Given the description of an element on the screen output the (x, y) to click on. 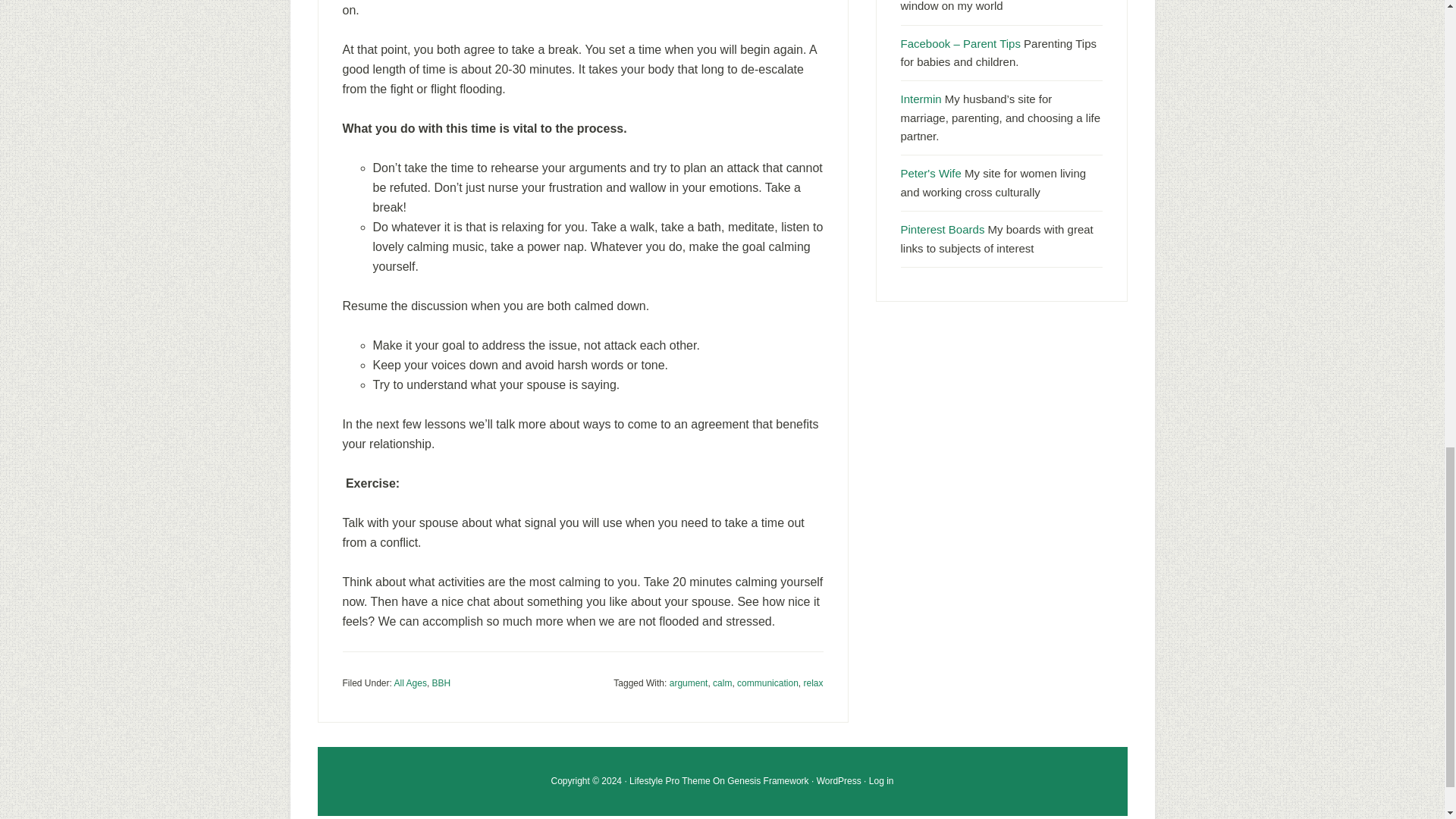
BBH (441, 683)
My boards with great links to subjects of interest  (943, 228)
Parenting Tips for babies and children. (960, 42)
argument (688, 683)
My site for women living and working cross culturally (930, 173)
All Ages (410, 683)
